Given the description of an element on the screen output the (x, y) to click on. 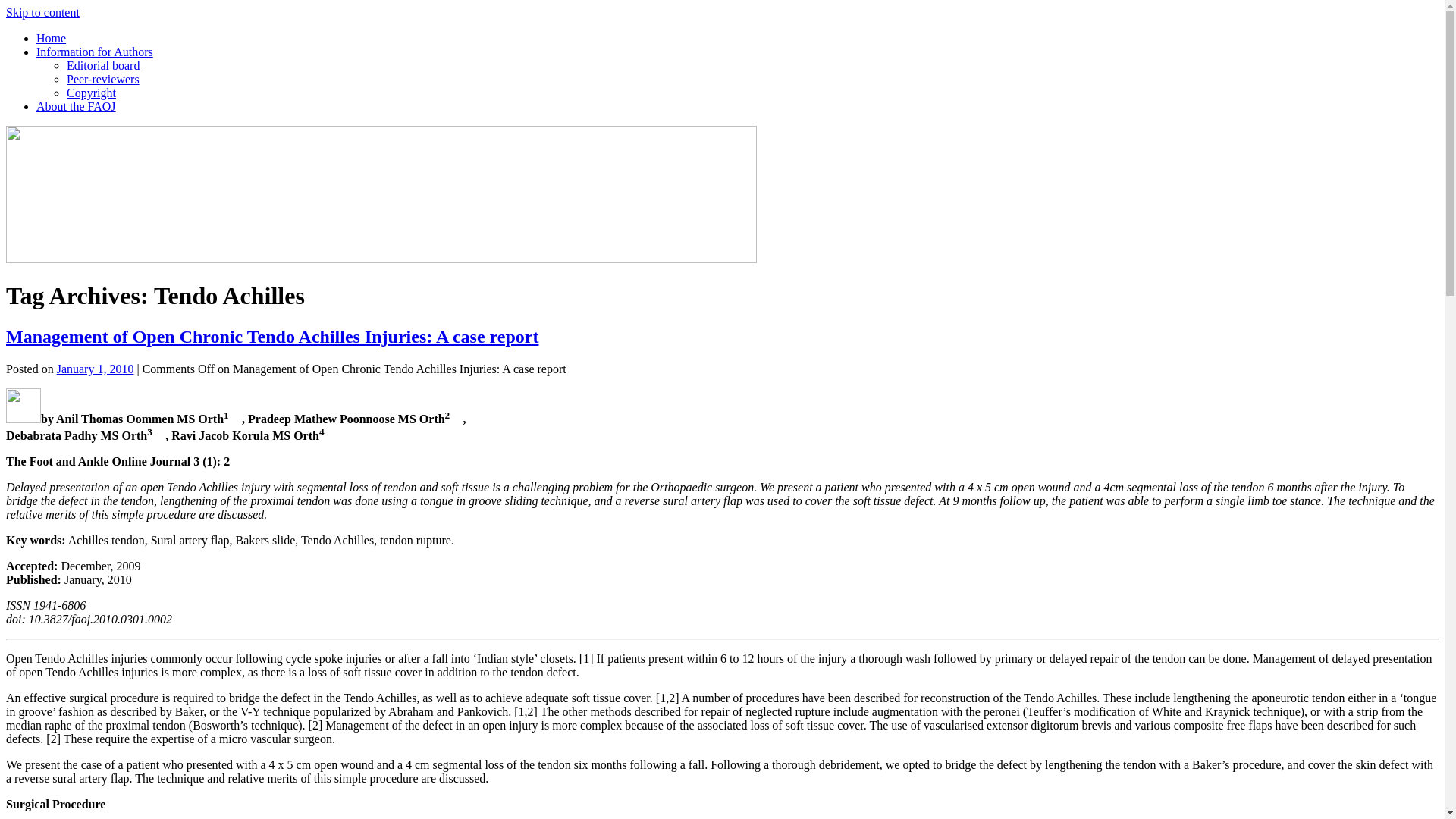
Skip to content (42, 11)
Peer-reviewers (102, 78)
Skip to content (42, 11)
Information for Authors (94, 51)
12:02 am (94, 368)
Home (50, 38)
About the FAOJ (76, 106)
Editorial board (102, 65)
January 1, 2010 (94, 368)
Copyright (91, 92)
